Given the description of an element on the screen output the (x, y) to click on. 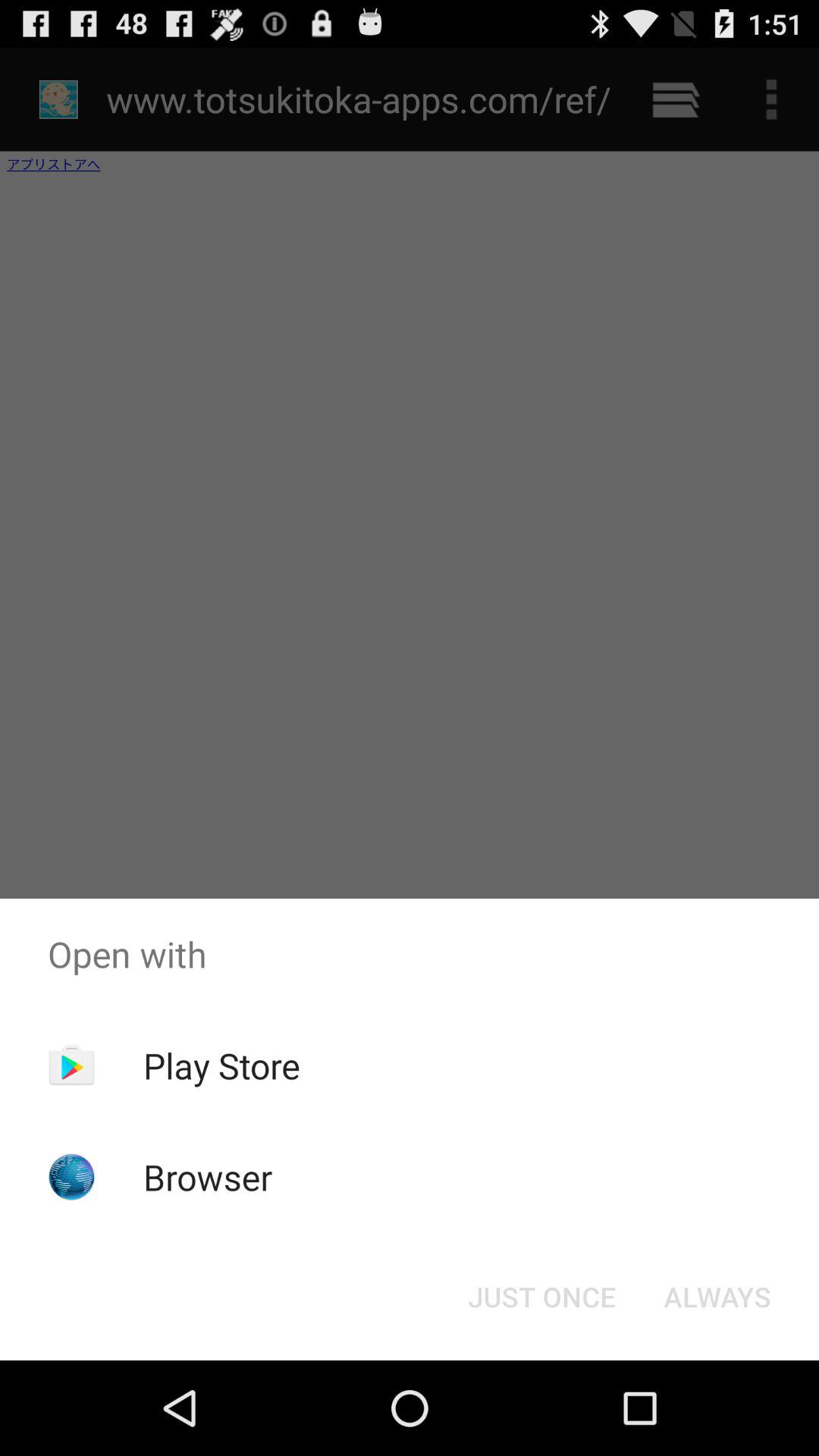
open app above the browser item (221, 1065)
